Given the description of an element on the screen output the (x, y) to click on. 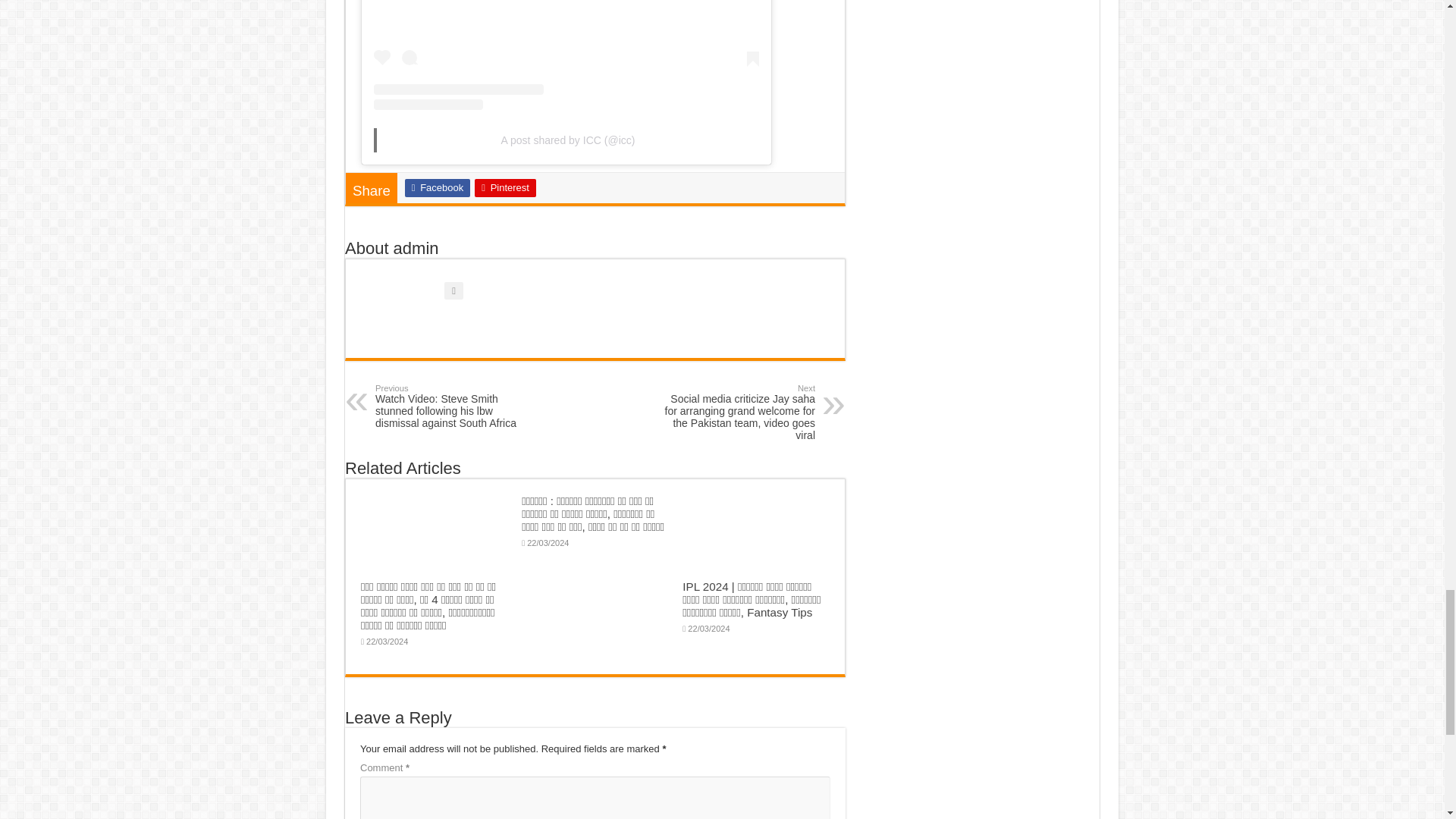
Facebook (437, 188)
Pinterest (504, 188)
View this post on Instagram (566, 54)
